Given the description of an element on the screen output the (x, y) to click on. 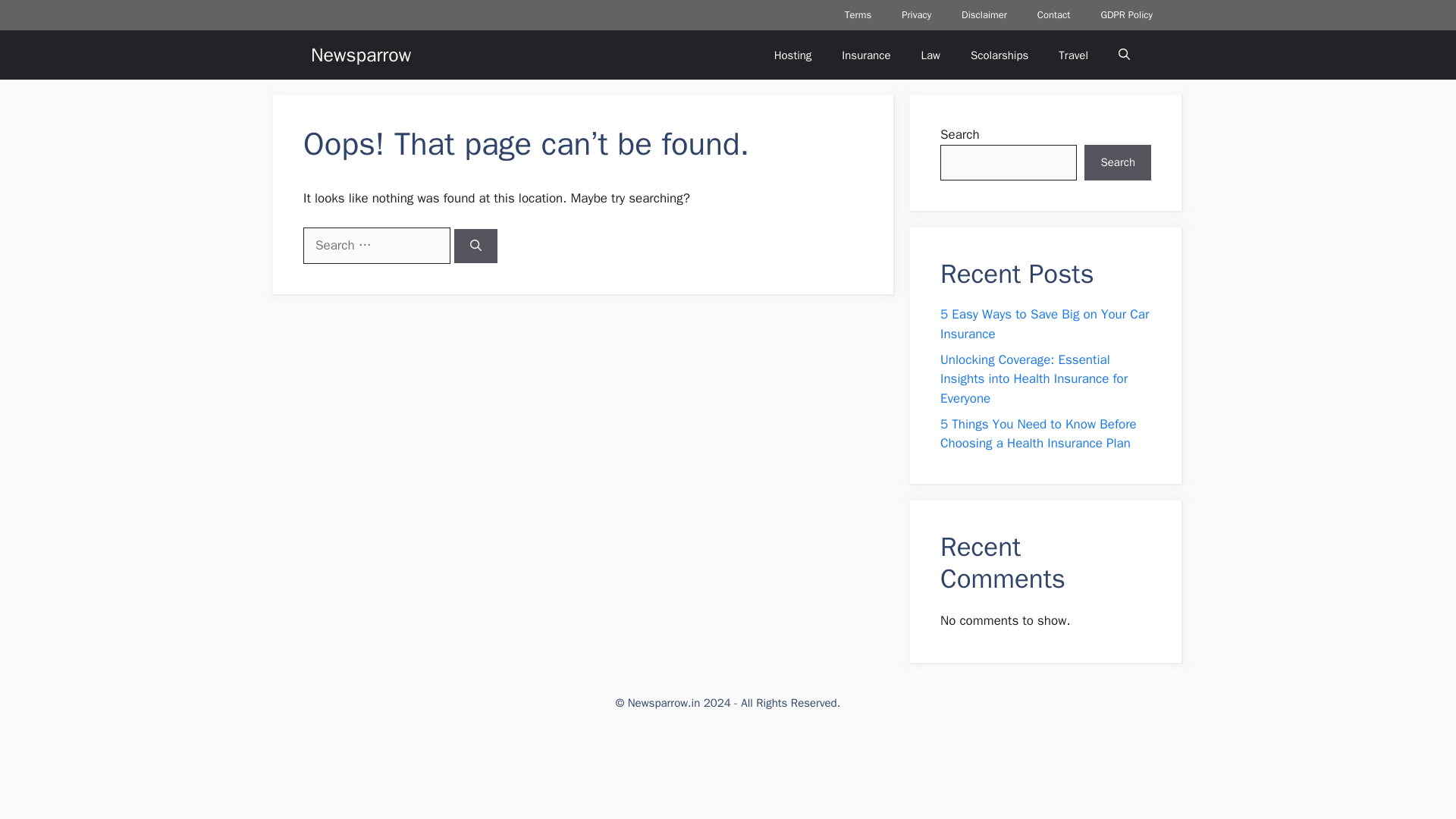
Travel (1073, 53)
Terms (857, 15)
Contact (1054, 15)
Search for: (375, 245)
Privacy (916, 15)
Search (1117, 162)
Newsparrow (360, 54)
Hosting (792, 53)
